Given the description of an element on the screen output the (x, y) to click on. 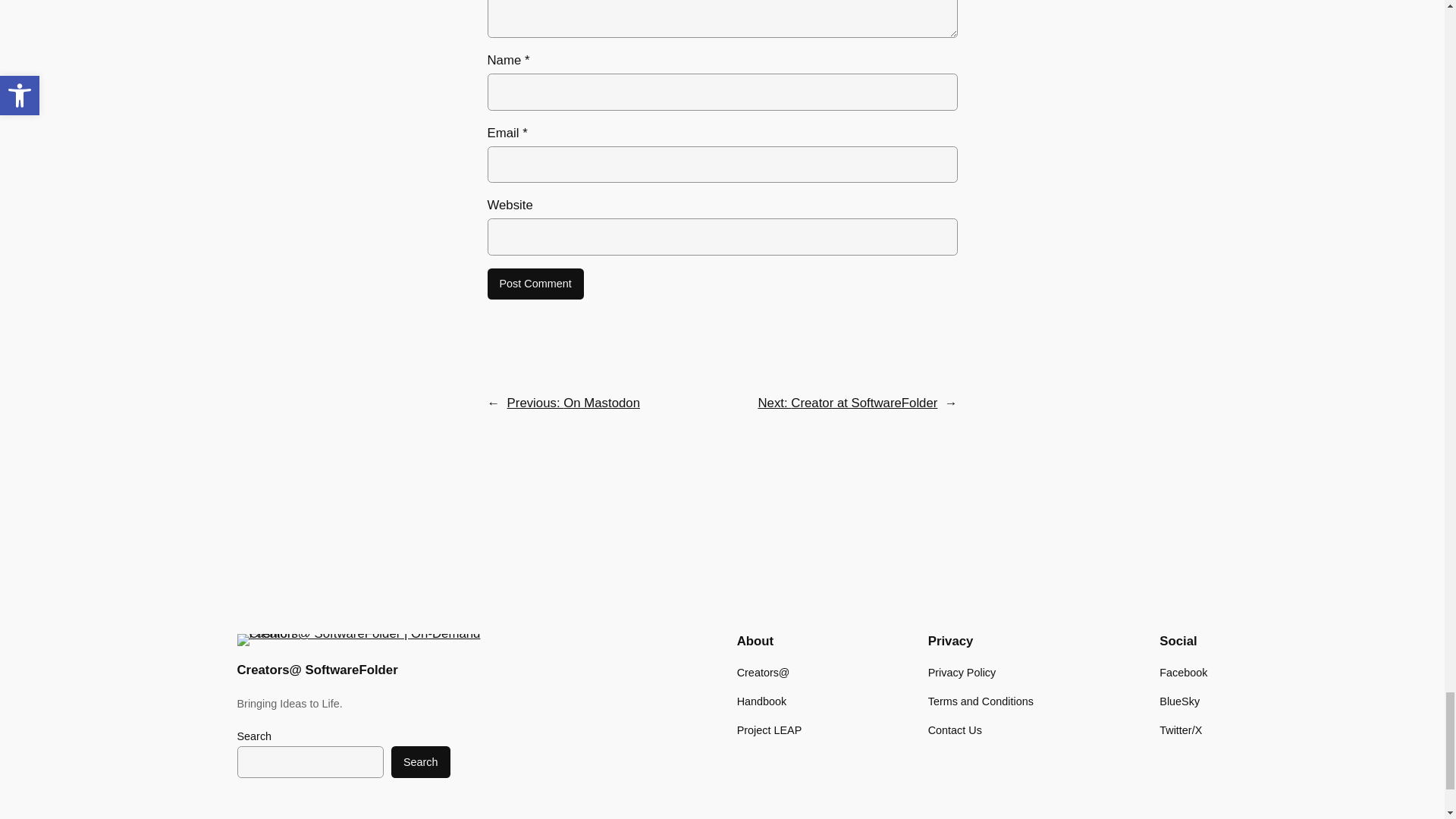
Post Comment (534, 284)
Previous: On Mastodon (573, 402)
Next: Creator at SoftwareFolder (847, 402)
Post Comment (534, 284)
